Given the description of an element on the screen output the (x, y) to click on. 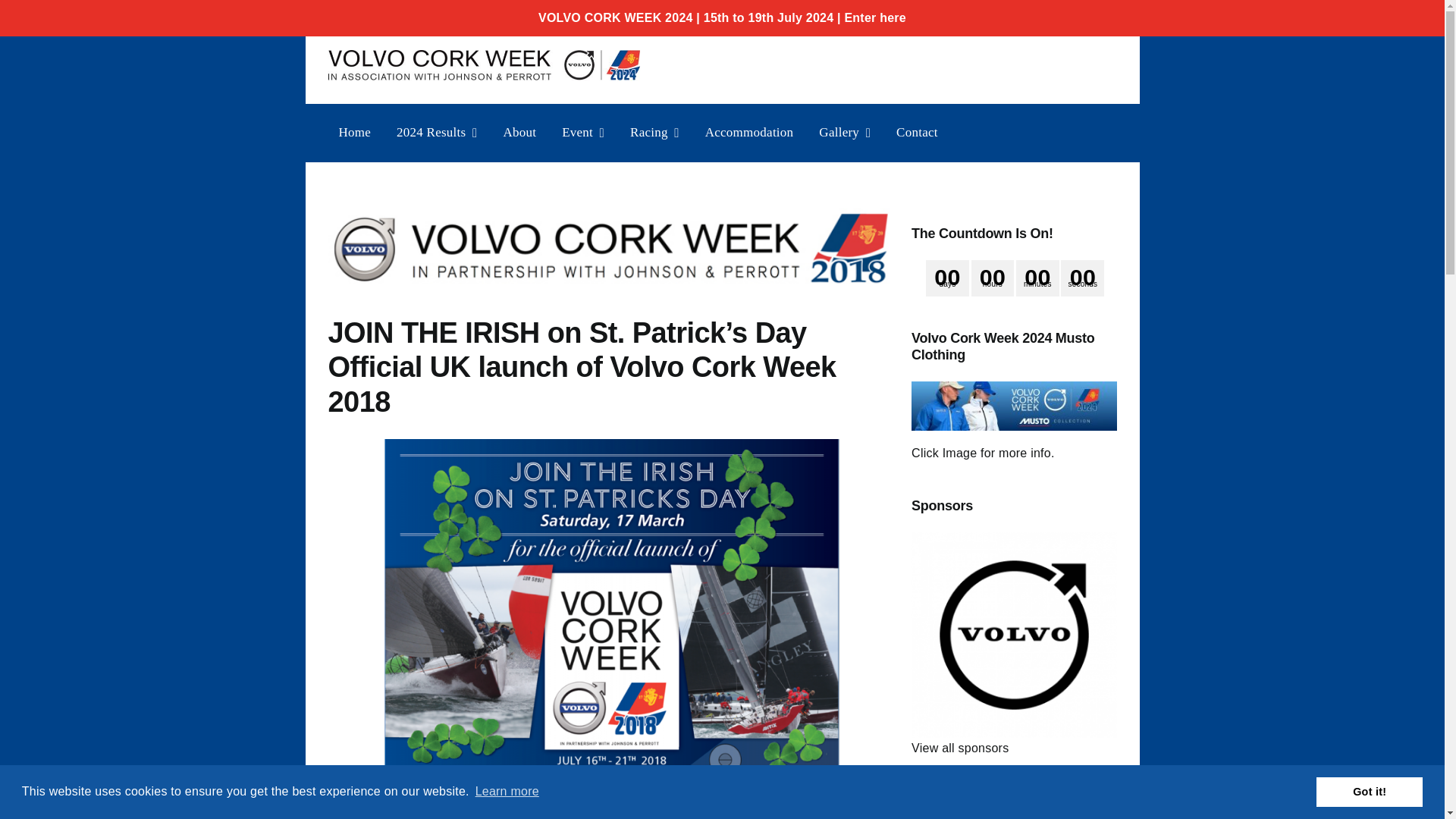
Got it! (1369, 791)
Event (582, 132)
2024 Results (436, 132)
Volvo Cork Week Musto Clothing (1013, 405)
Home (354, 132)
Learn more (506, 791)
Gallery (844, 132)
Accommodation (749, 132)
Enter here (874, 17)
